Given the description of an element on the screen output the (x, y) to click on. 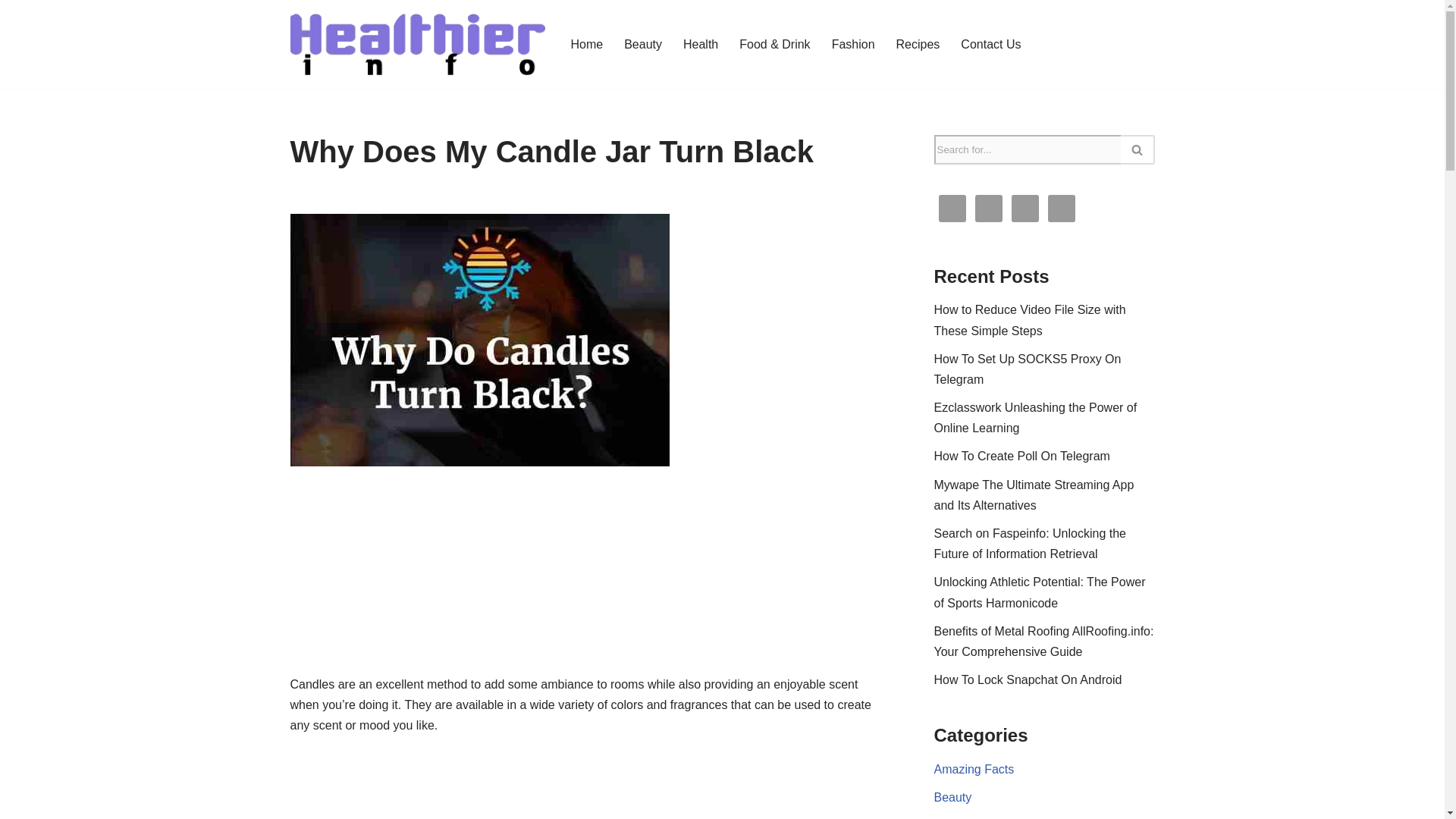
Health (699, 44)
Recipes (918, 44)
Home (586, 44)
Advertisement (588, 788)
Fashion (853, 44)
Advertisement (588, 592)
Beauty (643, 44)
Skip to content (11, 31)
Contact Us (990, 44)
